Given the description of an element on the screen output the (x, y) to click on. 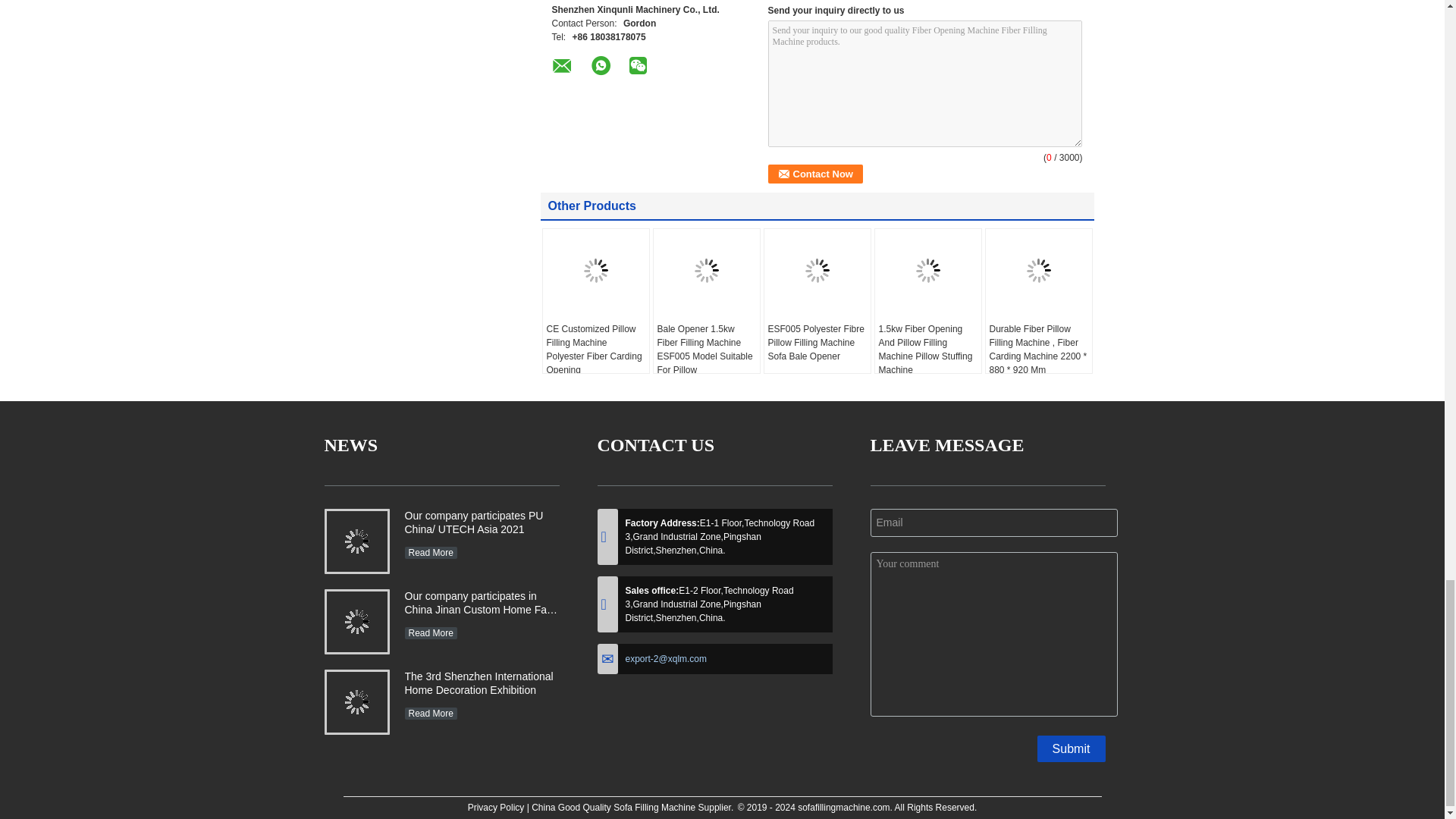
Submit (1070, 748)
Contact Now (814, 173)
